Given the description of an element on the screen output the (x, y) to click on. 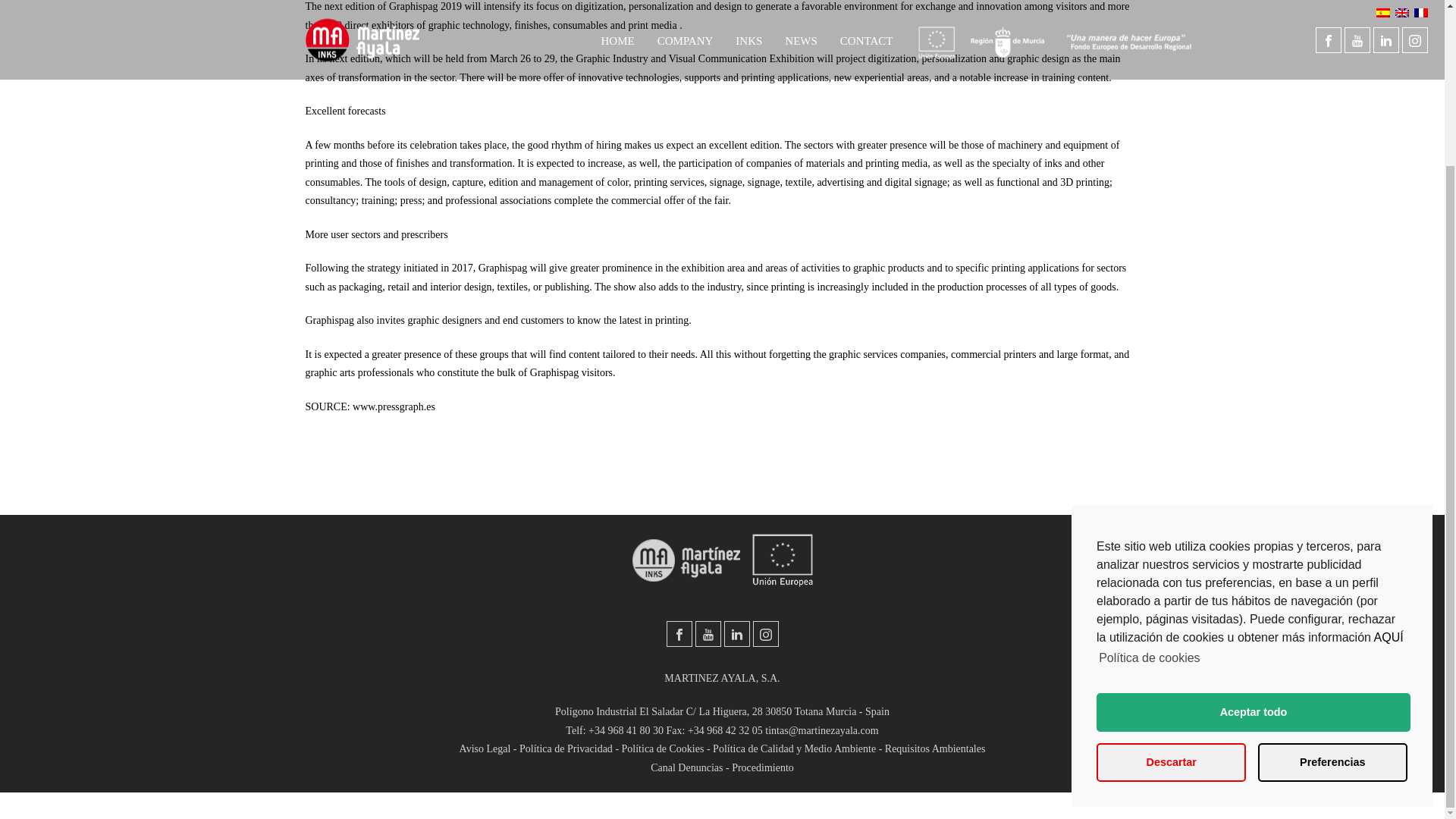
Aceptar todo (1253, 514)
Requisitos Ambientales (935, 748)
Canal Denuncias (686, 767)
Aviso Legal (485, 748)
Procedimiento (762, 767)
